Given the description of an element on the screen output the (x, y) to click on. 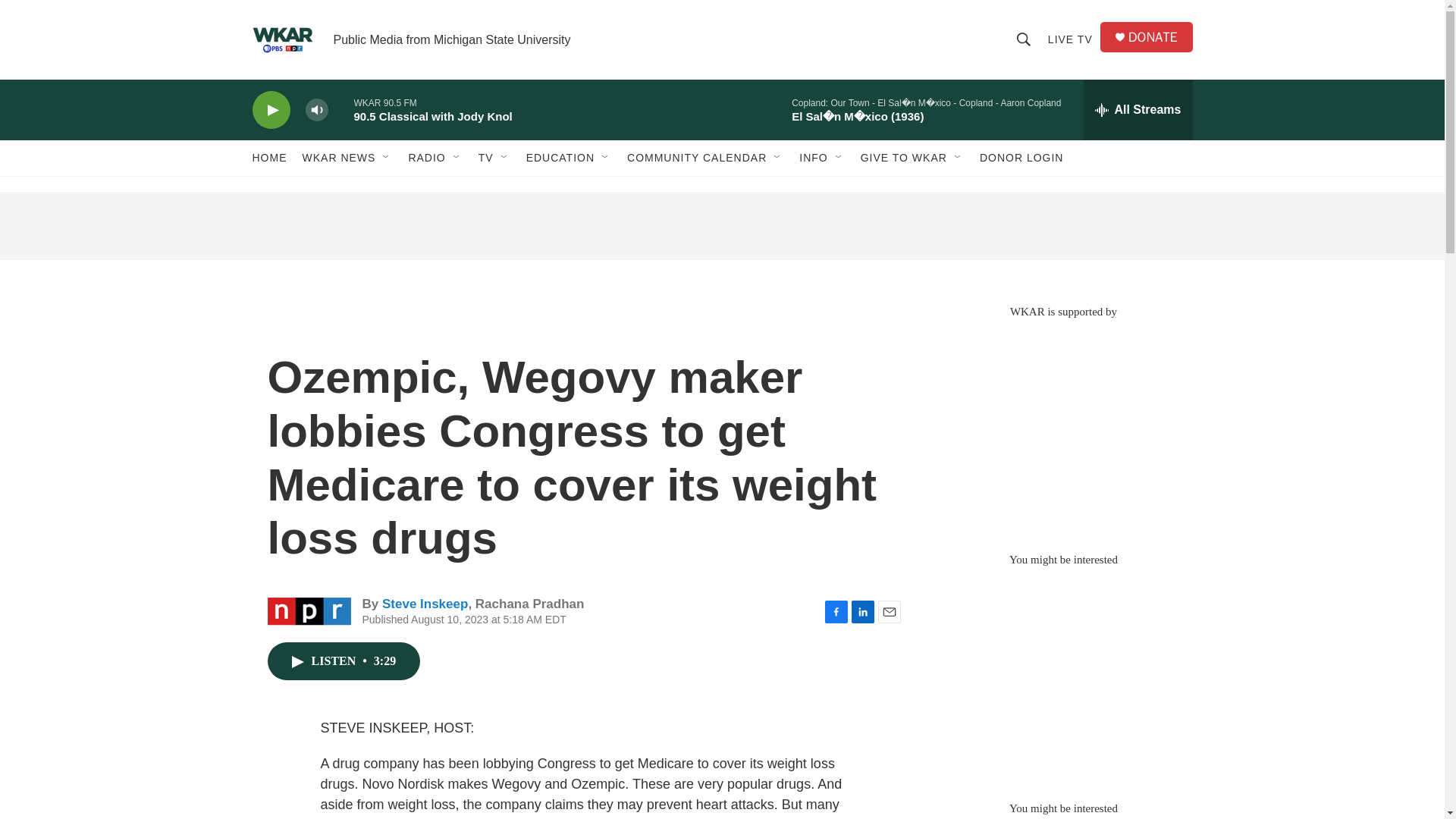
3rd party ad content (721, 225)
3rd party ad content (1062, 677)
3rd party ad content (1062, 428)
